Given the description of an element on the screen output the (x, y) to click on. 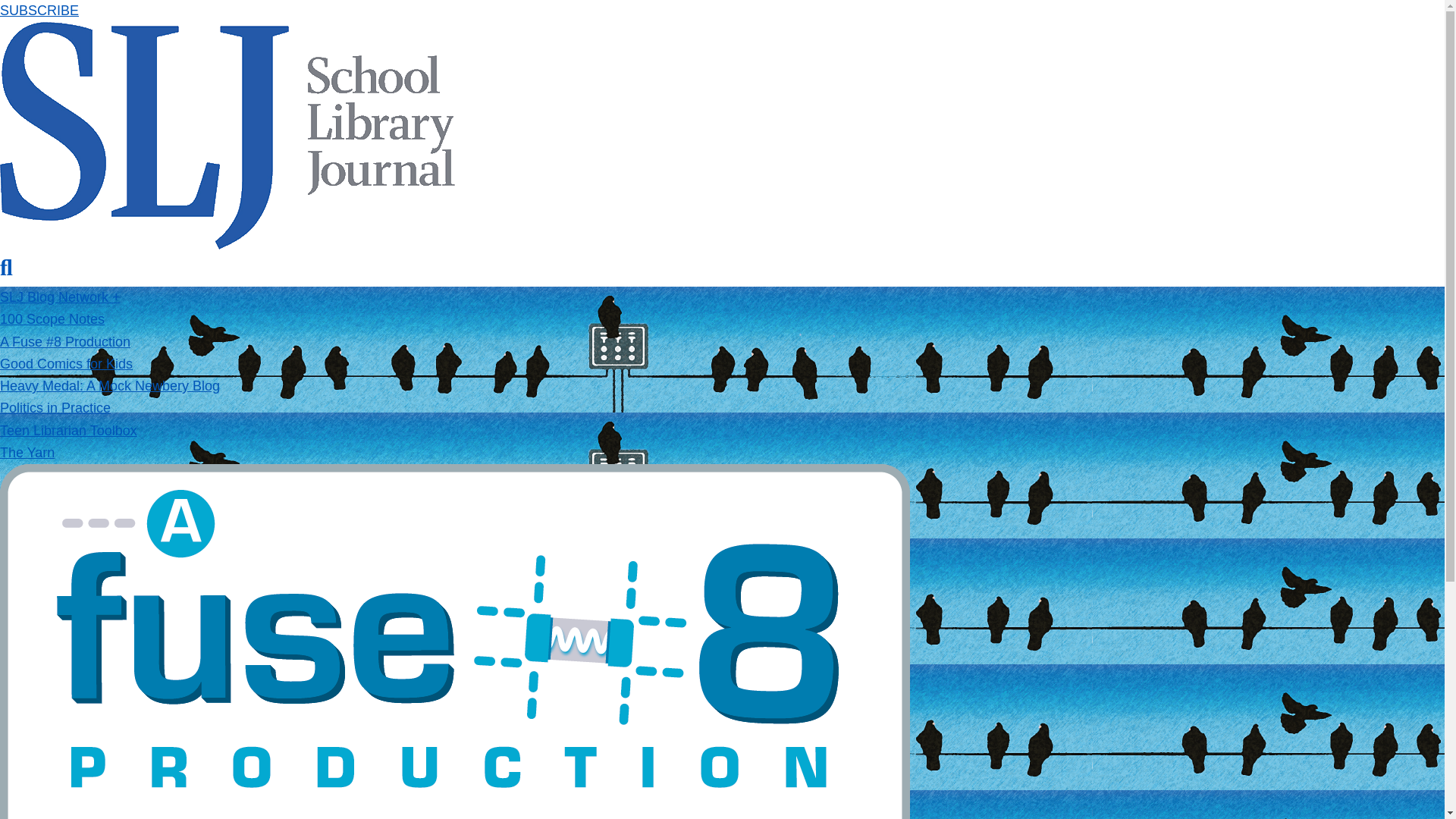
Heavy Medal: A Mock Newbery Blog (109, 385)
Politics in Practice (55, 407)
100 Scope Notes (52, 319)
SUBSCRIBE (39, 10)
Teen Librarian Toolbox (68, 430)
The Yarn (27, 452)
Good Comics for Kids (66, 363)
